Given the description of an element on the screen output the (x, y) to click on. 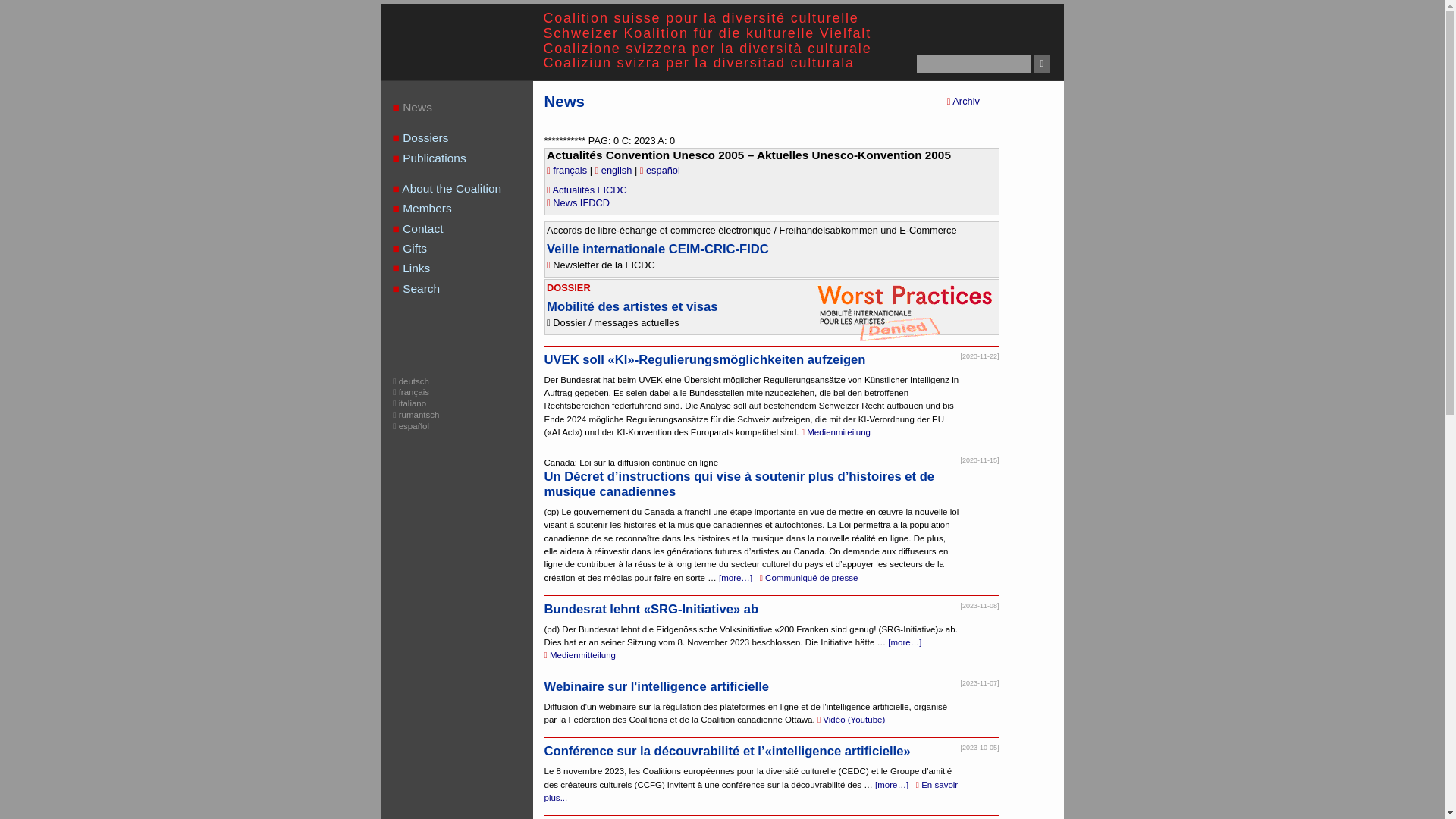
Members  Element type: text (466, 208)
News   Element type: text (466, 107)
Medienmitteilung Element type: text (579, 654)
News IFDCD Element type: text (577, 202)
Webinaire sur l'intelligence artificielle Element type: text (656, 686)
About the Coalition  Element type: text (466, 188)
english Element type: text (614, 169)
rumantsch Element type: text (415, 414)
Search  Element type: text (466, 288)
Publications  Element type: text (466, 158)
Medienmiteilung Element type: text (835, 431)
Contact  Element type: text (466, 228)
italiano Element type: text (409, 402)
deutsch Element type: text (410, 380)
Dossiers  Element type: text (466, 137)
Links  Element type: text (466, 268)
Archiv Element type: text (963, 100)
Gifts  Element type: text (466, 248)
En savoir plus... Element type: text (751, 791)
